Given the description of an element on the screen output the (x, y) to click on. 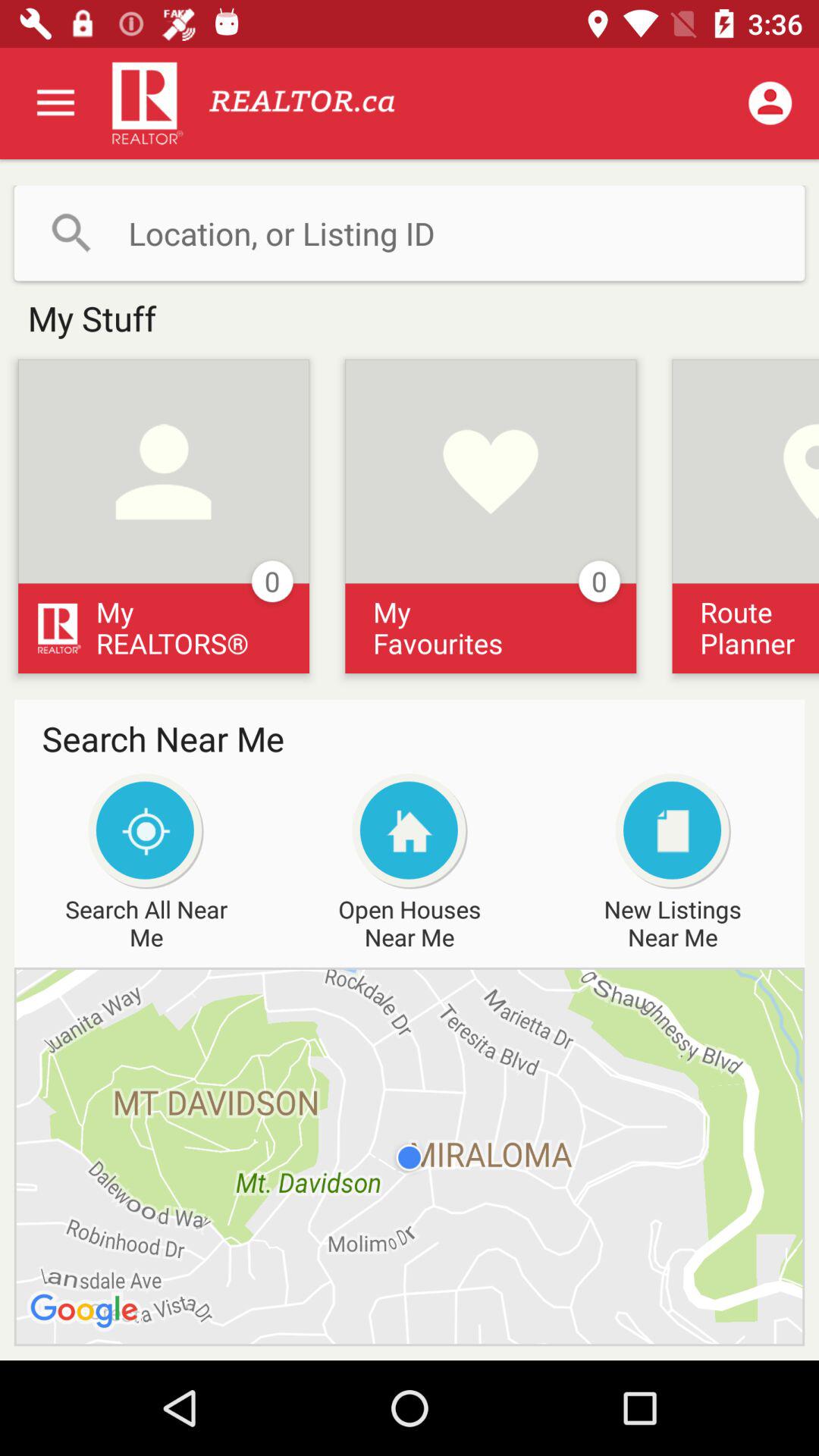
search location (409, 232)
